Given the description of an element on the screen output the (x, y) to click on. 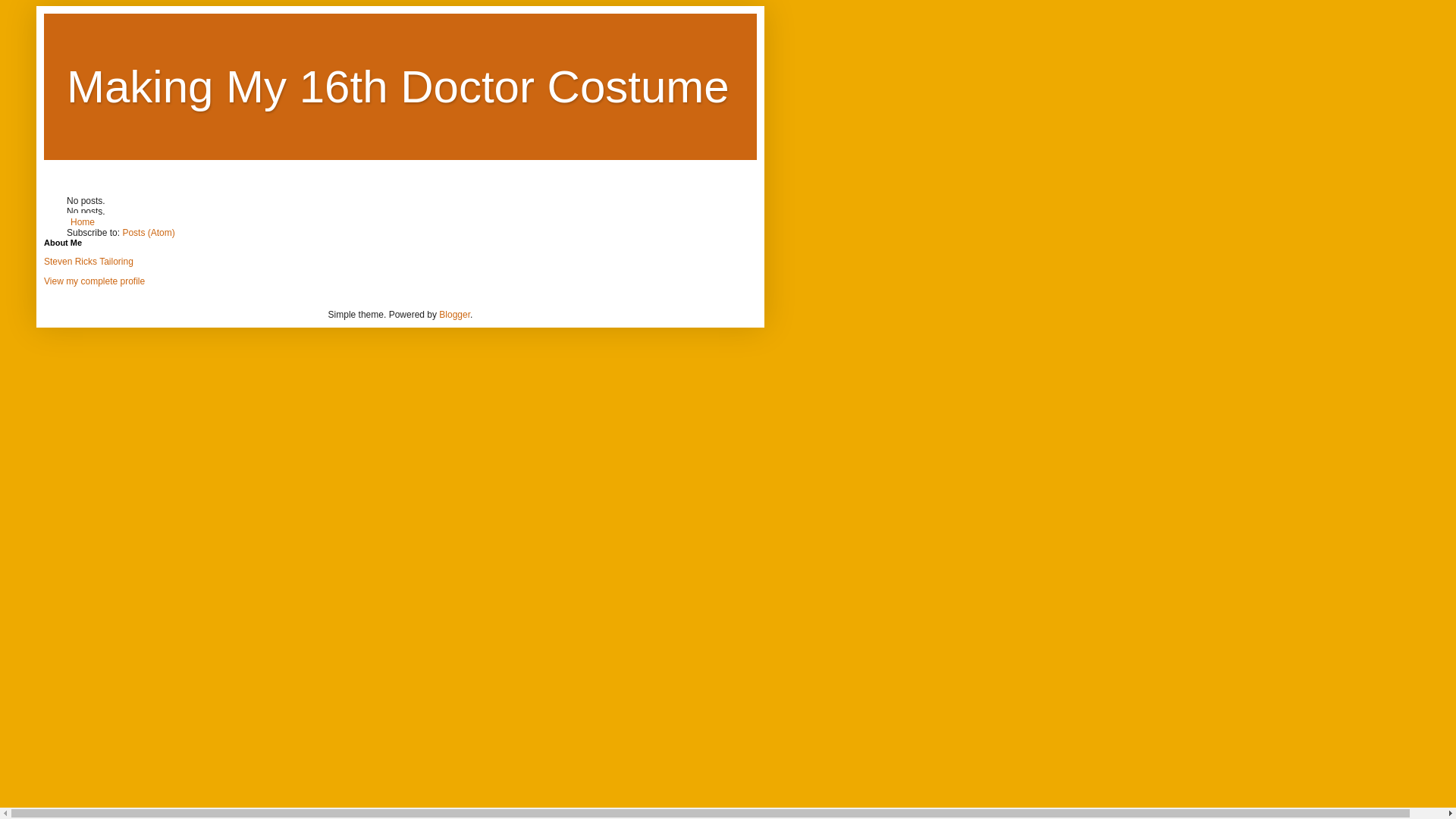
Steven Ricks Tailoring Element type: text (88, 261)
Blogger Element type: text (454, 314)
Posts (Atom) Element type: text (148, 232)
Home Element type: text (82, 222)
View my complete profile Element type: text (93, 281)
